Given the description of an element on the screen output the (x, y) to click on. 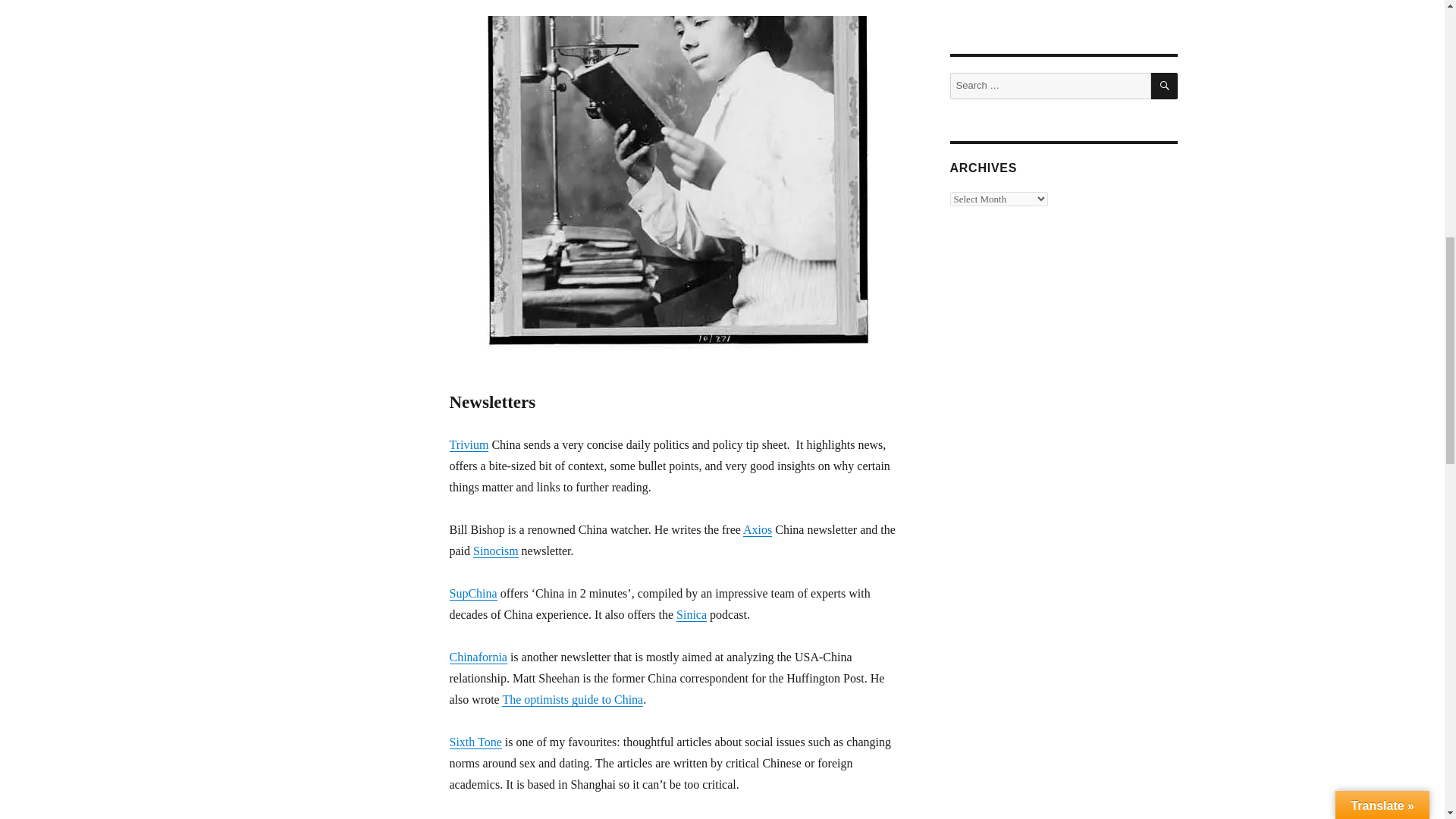
Sixth Tone (474, 741)
Chinafornia (477, 656)
Trivium (467, 444)
Sinocism (495, 550)
SEARCH (1164, 85)
The optimists guide to China (572, 698)
SupChina (472, 593)
Sinica (691, 614)
Axios (756, 529)
